Given the description of an element on the screen output the (x, y) to click on. 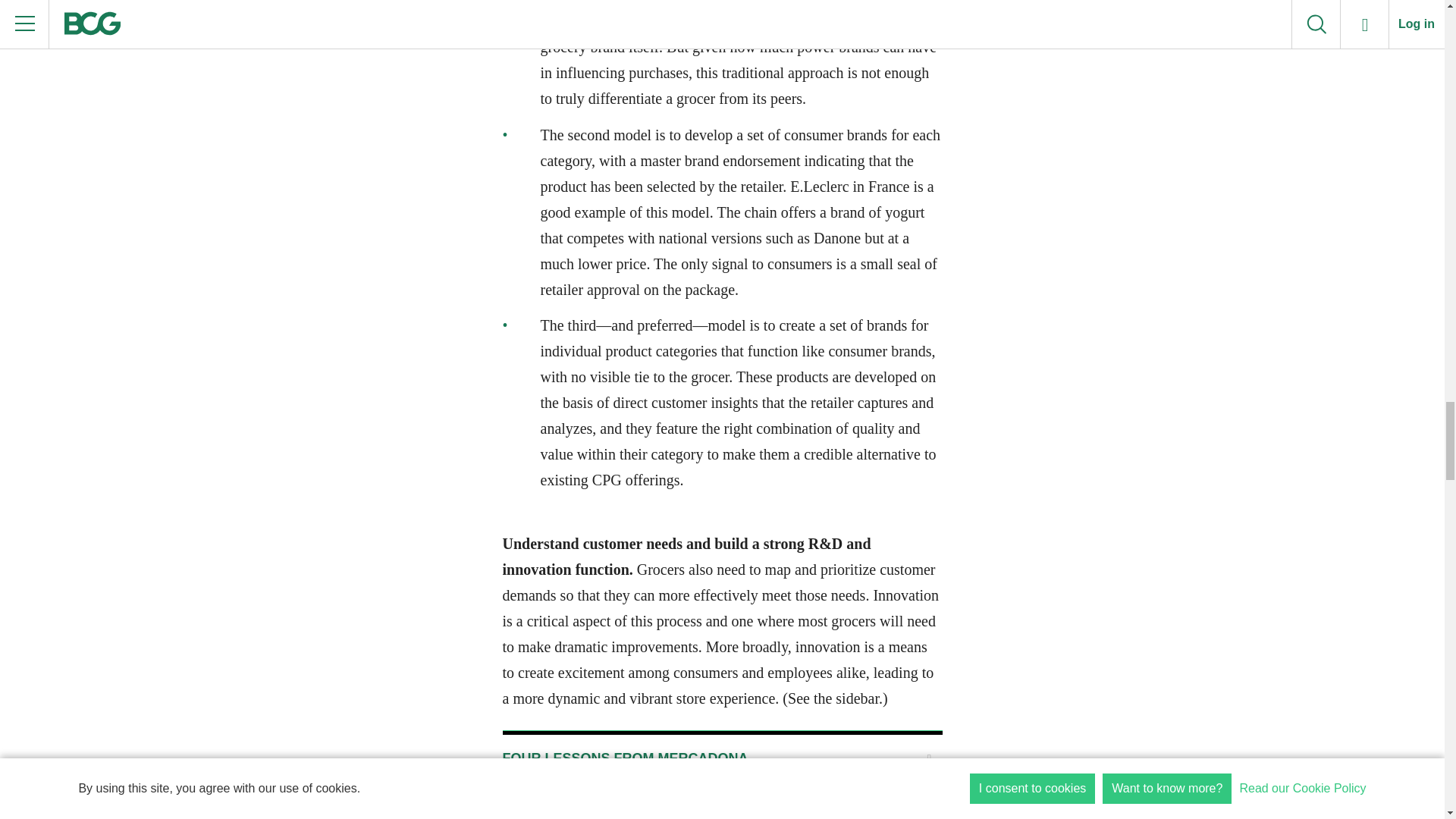
Item 0 (722, 758)
